Given the description of an element on the screen output the (x, y) to click on. 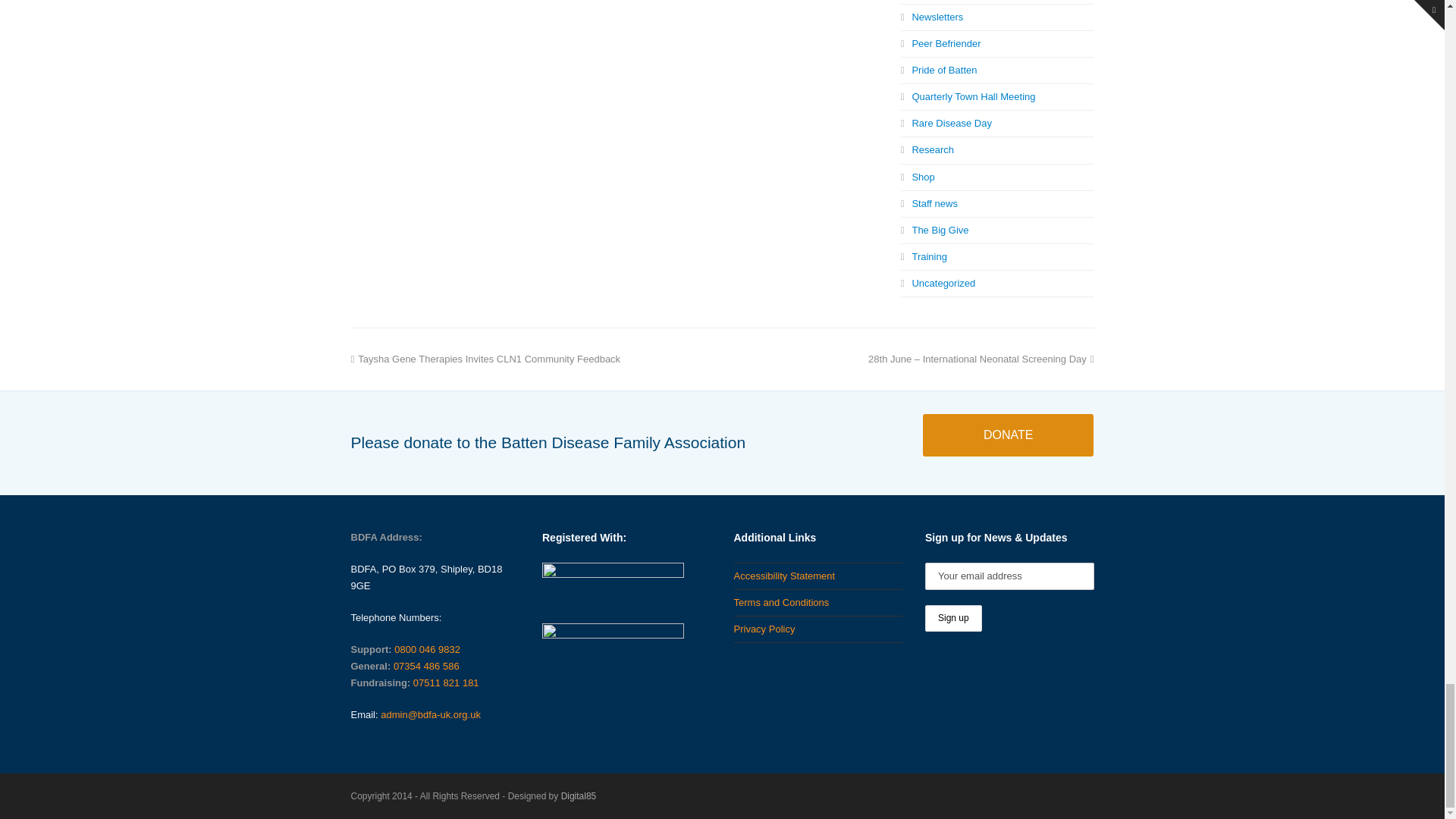
DONATE (1008, 435)
Sign up (952, 618)
Website Design in Darlington (578, 796)
